Given the description of an element on the screen output the (x, y) to click on. 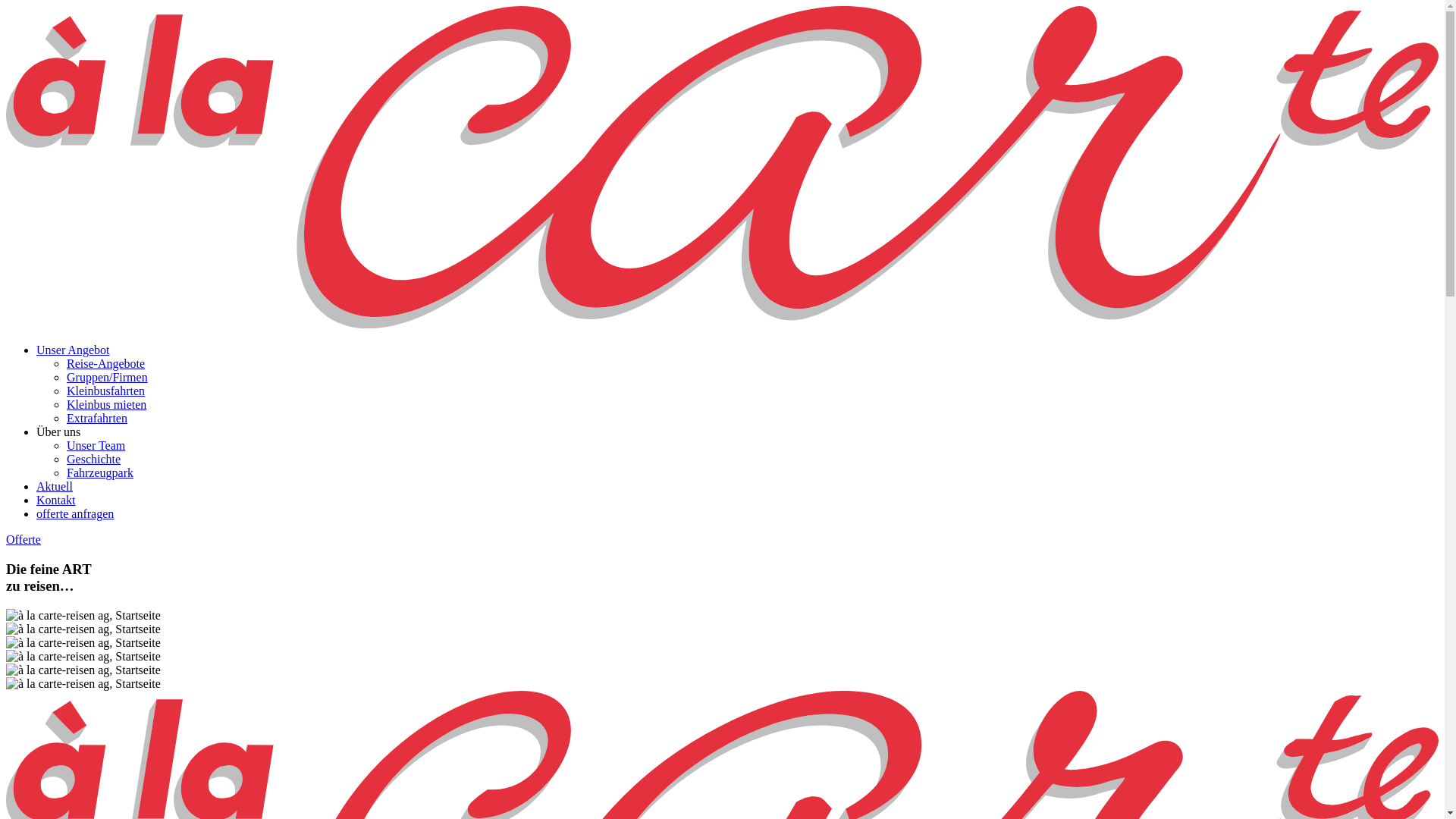
Aktuell Element type: text (54, 486)
offerte anfragen Element type: text (74, 513)
Gruppen/Firmen Element type: text (106, 376)
Kontakt Element type: text (55, 499)
Offerte Element type: text (23, 539)
Unser Angebot Element type: text (72, 349)
Fahrzeugpark Element type: text (99, 472)
Extrafahrten Element type: text (96, 417)
Reise-Angebote Element type: text (105, 363)
Kleinbusfahrten Element type: text (105, 390)
Kleinbus mieten Element type: text (106, 404)
Geschichte Element type: text (93, 458)
Unser Team Element type: text (95, 445)
